Given the description of an element on the screen output the (x, y) to click on. 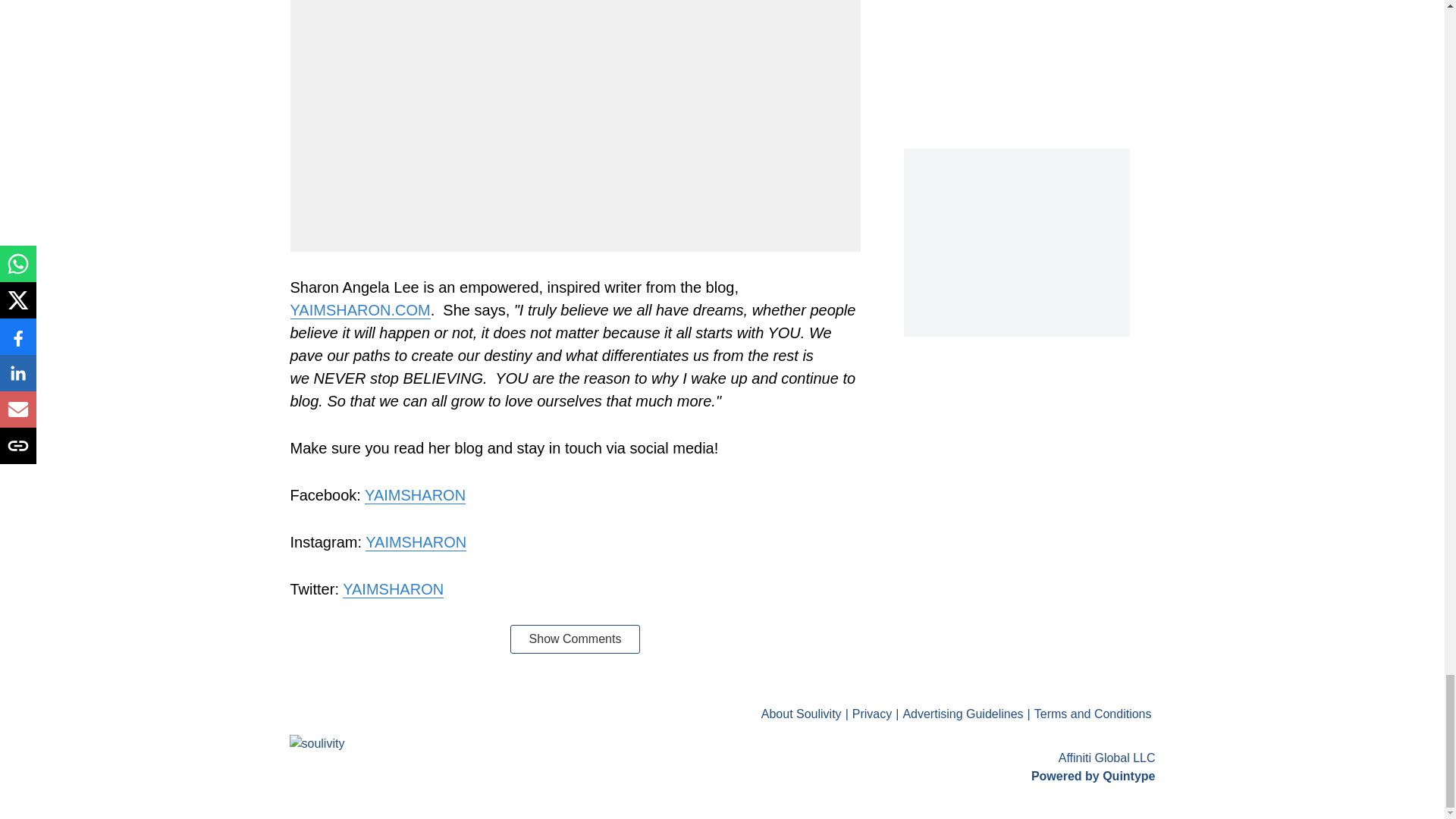
YAIMSHARON (415, 542)
Show Comments (575, 638)
YAIMSHARON (393, 589)
YAIMSHARON.COM (359, 310)
YAIMSHARON (415, 495)
